Given the description of an element on the screen output the (x, y) to click on. 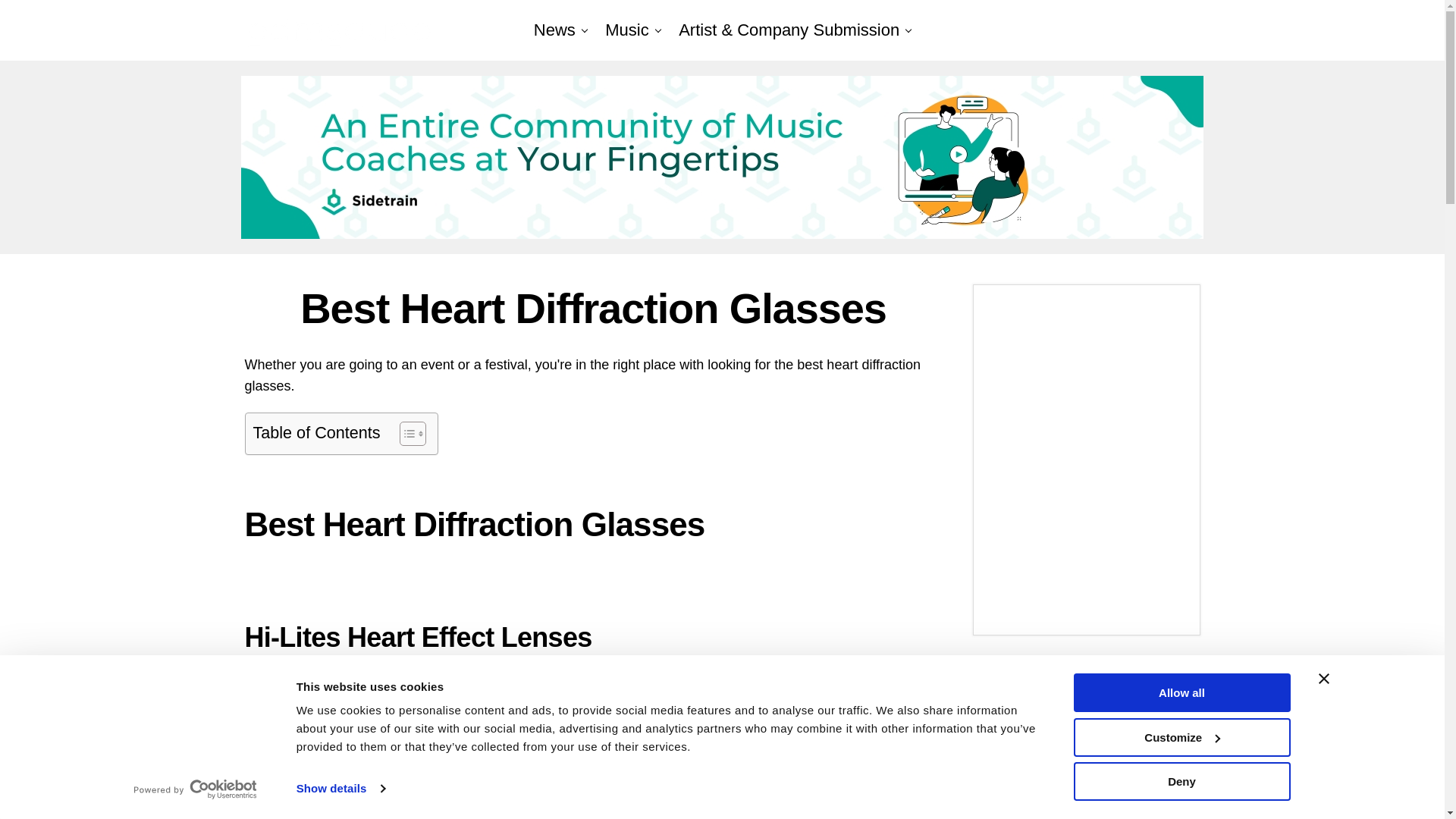
Show details (340, 788)
